Given the description of an element on the screen output the (x, y) to click on. 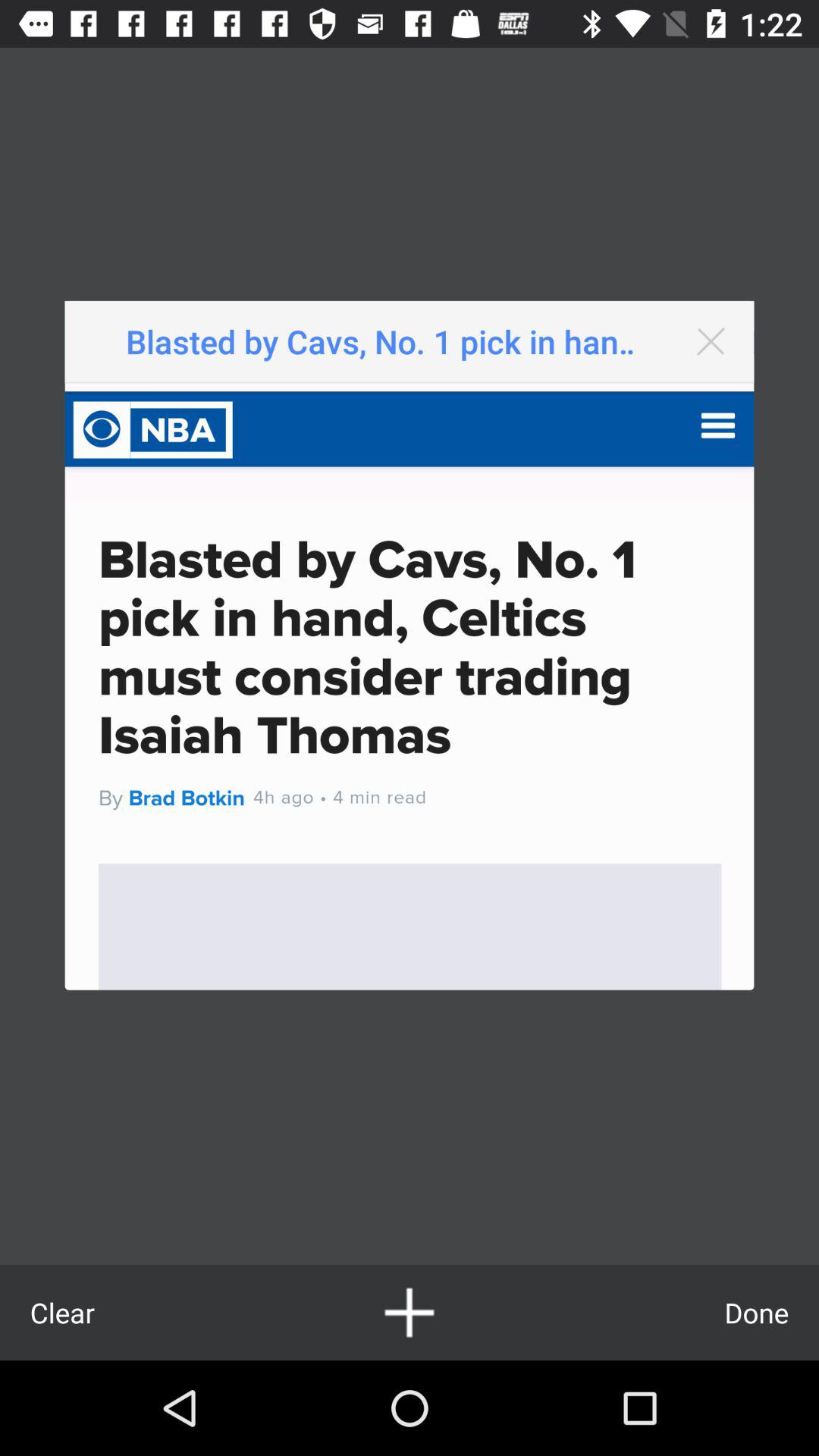
tap app at the bottom right corner (756, 1312)
